Given the description of an element on the screen output the (x, y) to click on. 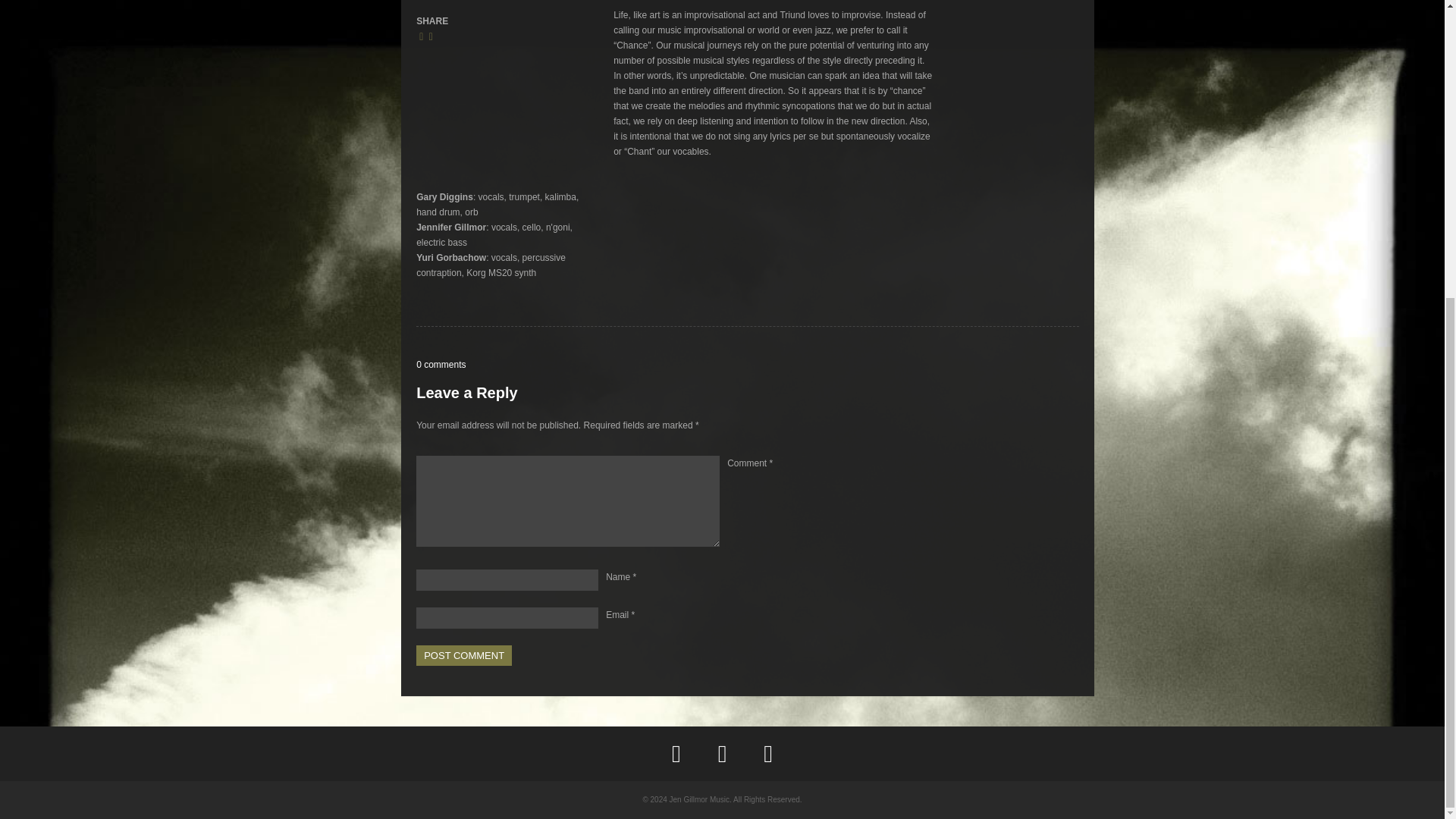
Post Comment (464, 655)
Post Comment (464, 655)
